Given the description of an element on the screen output the (x, y) to click on. 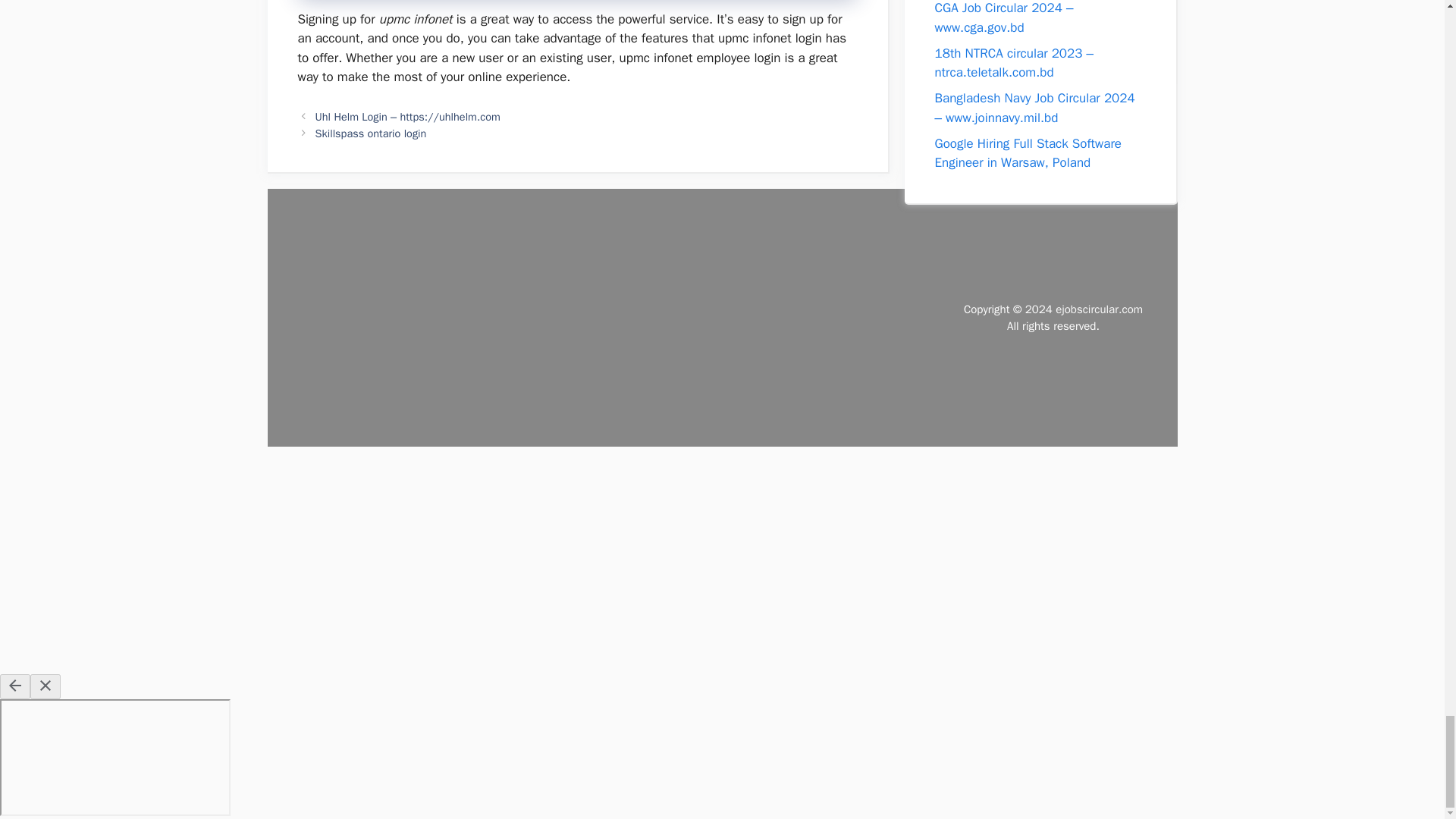
ejobscircular (1098, 309)
Skillspass ontario login (370, 133)
